Given the description of an element on the screen output the (x, y) to click on. 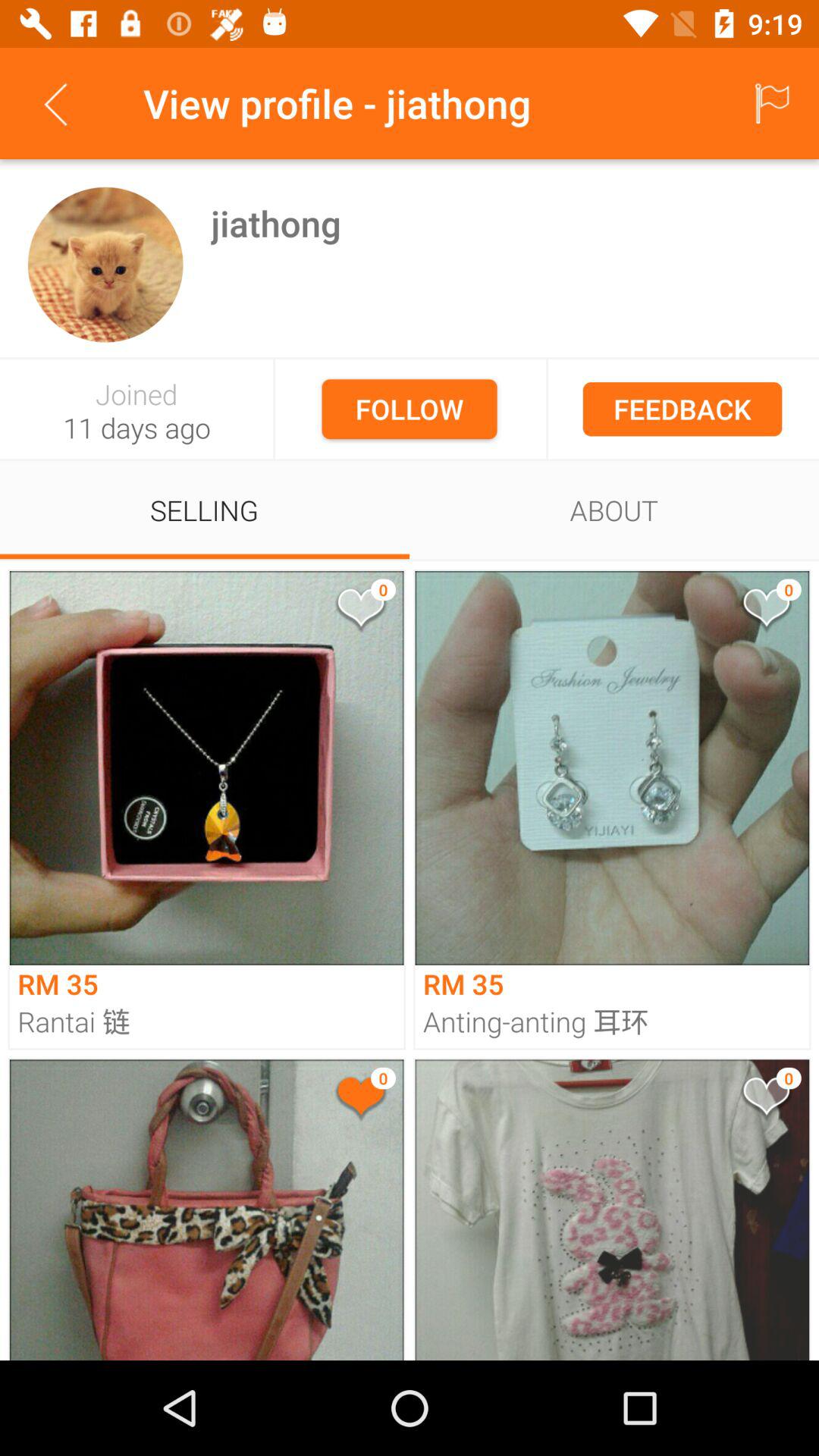
view profile picture (105, 264)
